Given the description of an element on the screen output the (x, y) to click on. 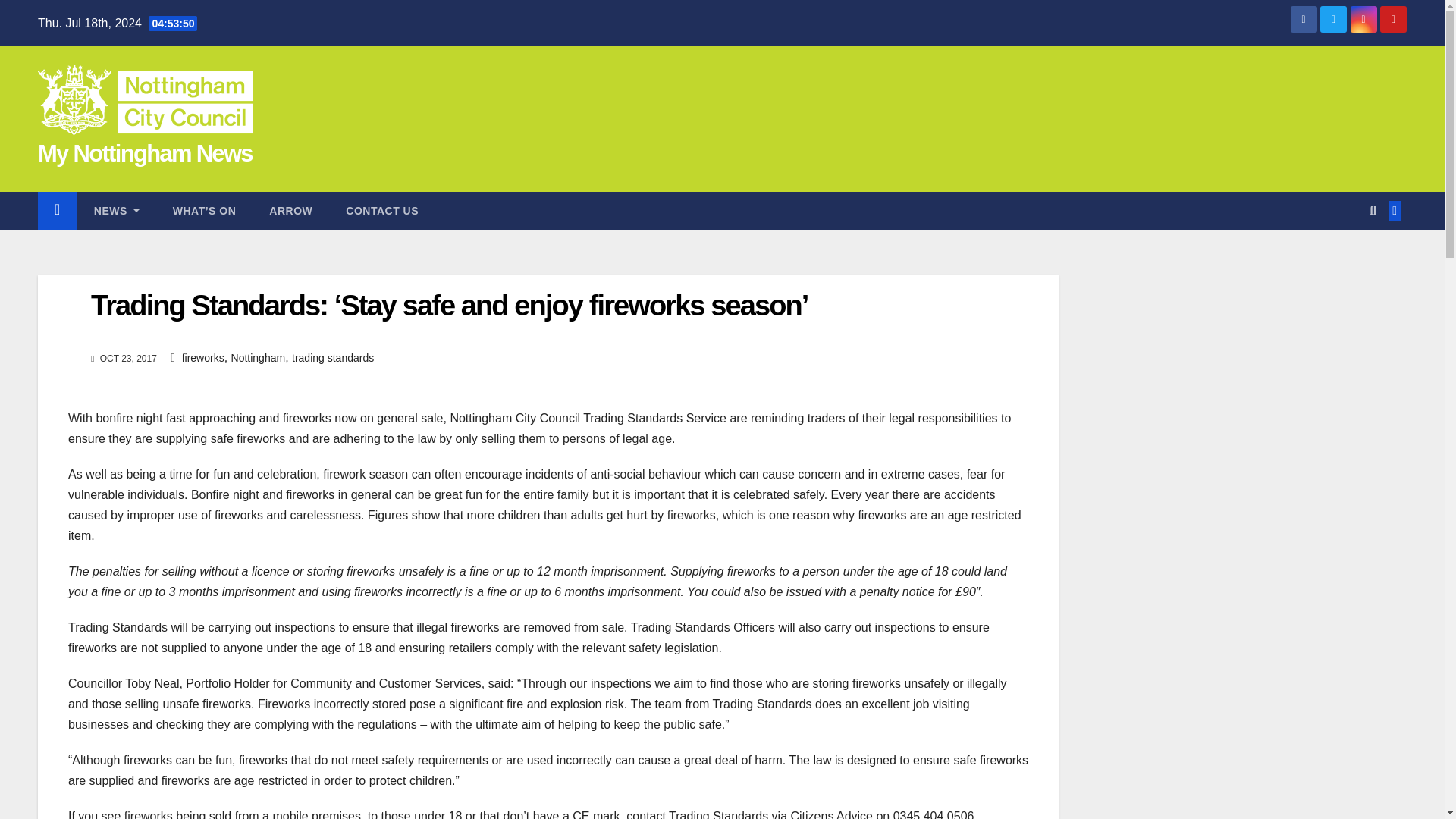
ARROW (290, 210)
My Nottingham News (144, 153)
trading standards (333, 357)
NEWS (116, 210)
What's On (204, 210)
CONTACT US (382, 210)
fireworks (203, 357)
Nottingham (258, 357)
News (116, 210)
